Given the description of an element on the screen output the (x, y) to click on. 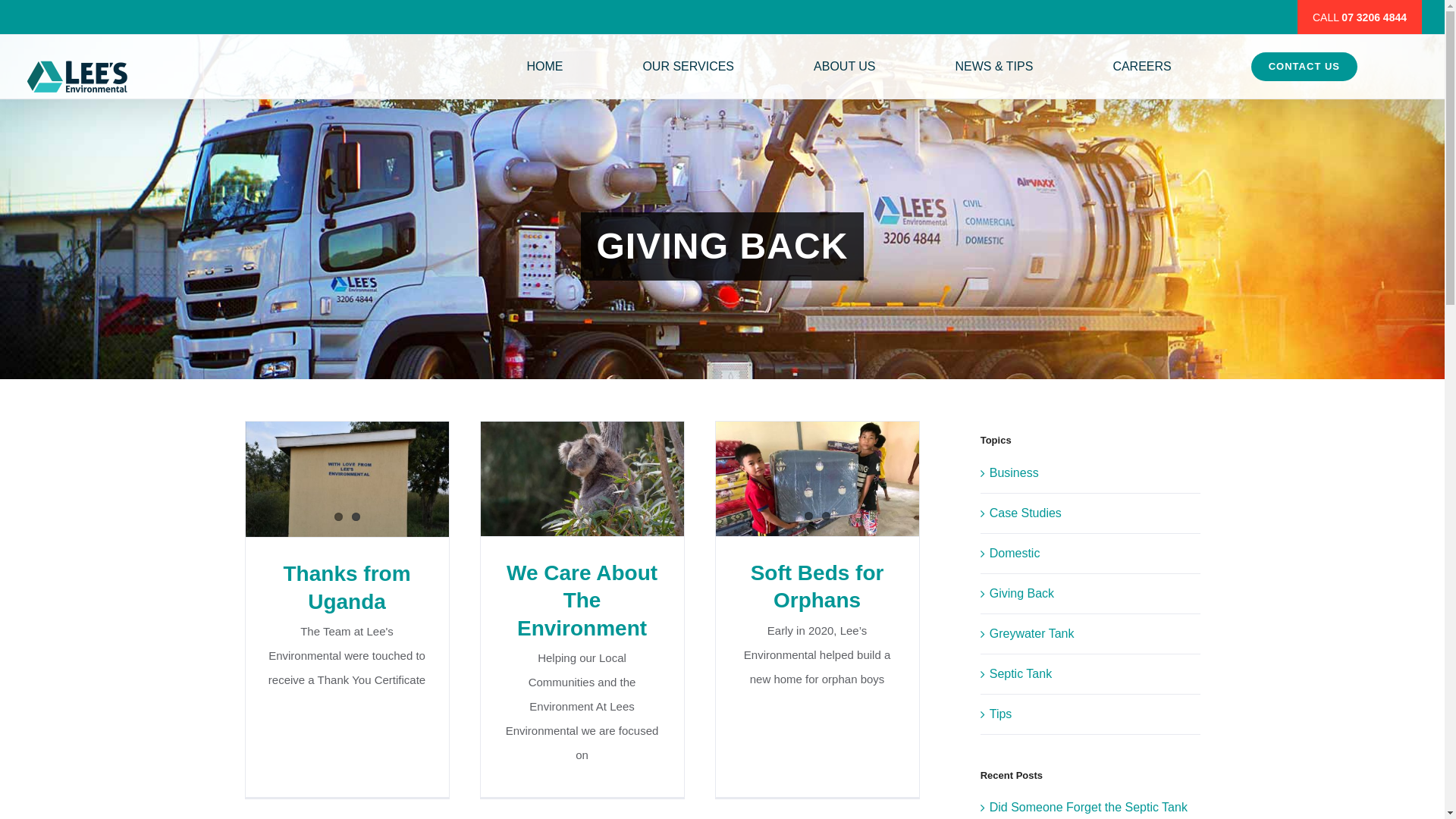
1 Element type: text (338, 516)
1 Element type: text (808, 515)
CONTACT US Element type: text (1304, 66)
Tips Element type: text (1090, 714)
HOME Element type: text (544, 66)
2 Element type: text (826, 515)
2 Element type: text (355, 516)
Case Studies Element type: text (1090, 513)
ABOUT US Element type: text (844, 66)
Thanks from Uganda Element type: text (347, 586)
OUR SERVICES Element type: text (688, 66)
Giving Back Element type: text (1090, 593)
07 3206 4844 Element type: text (1373, 17)
NEWS & TIPS Element type: text (994, 66)
CAREERS Element type: text (1141, 66)
Business Element type: text (1090, 473)
Domestic Element type: text (1090, 553)
Greywater Tank Element type: text (1090, 633)
Soft Beds for Orphans Element type: text (817, 586)
We Care About The Environment Element type: text (581, 600)
Septic Tank Element type: text (1090, 674)
